Given the description of an element on the screen output the (x, y) to click on. 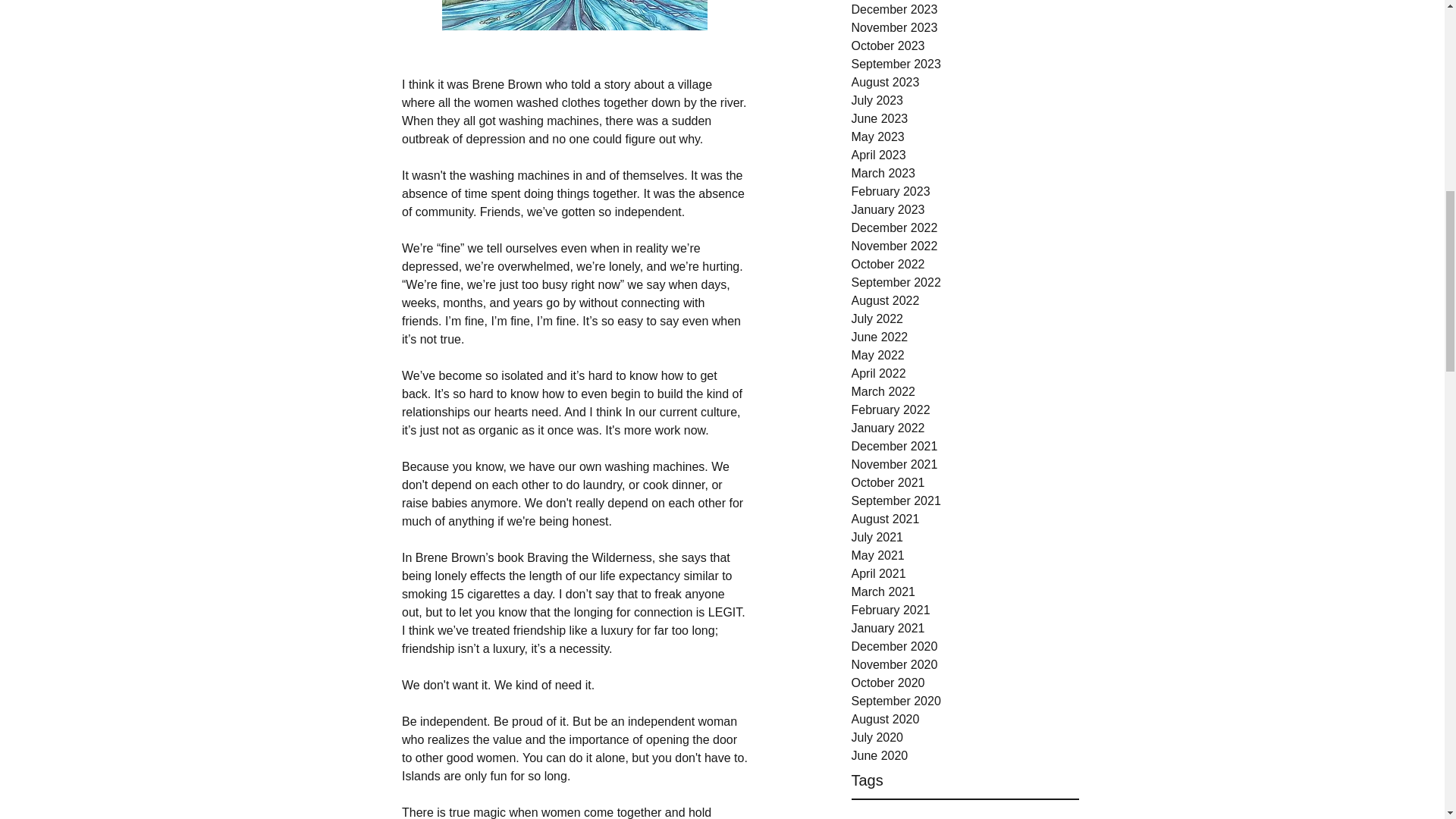
October 2023 (964, 45)
June 2023 (964, 118)
January 2022 (964, 428)
August 2023 (964, 82)
October 2022 (964, 264)
February 2023 (964, 191)
December 2023 (964, 9)
April 2022 (964, 373)
November 2023 (964, 27)
September 2022 (964, 282)
